Given the description of an element on the screen output the (x, y) to click on. 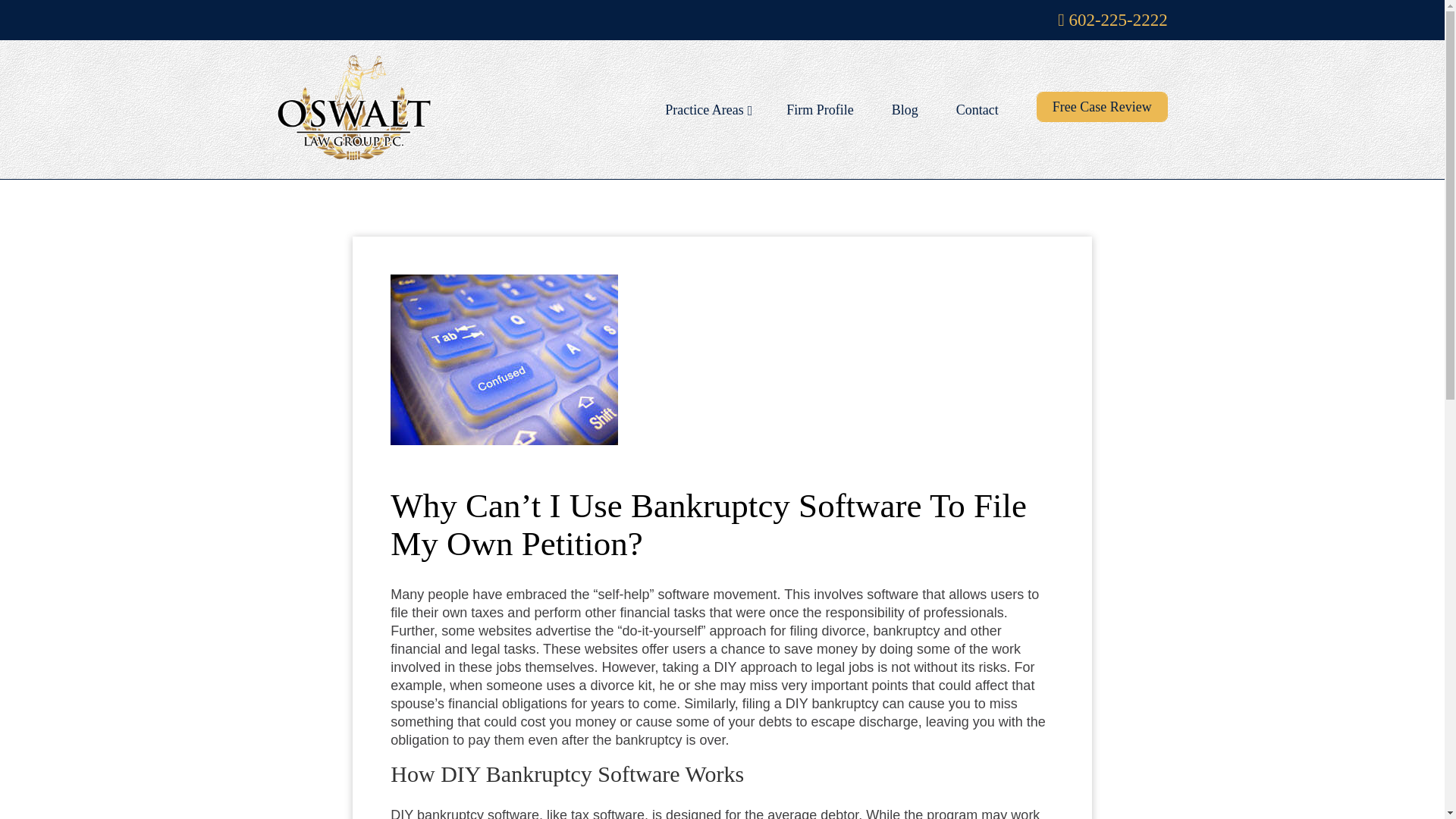
602-225-2222 (1112, 19)
Practice Areas (706, 109)
